Given the description of an element on the screen output the (x, y) to click on. 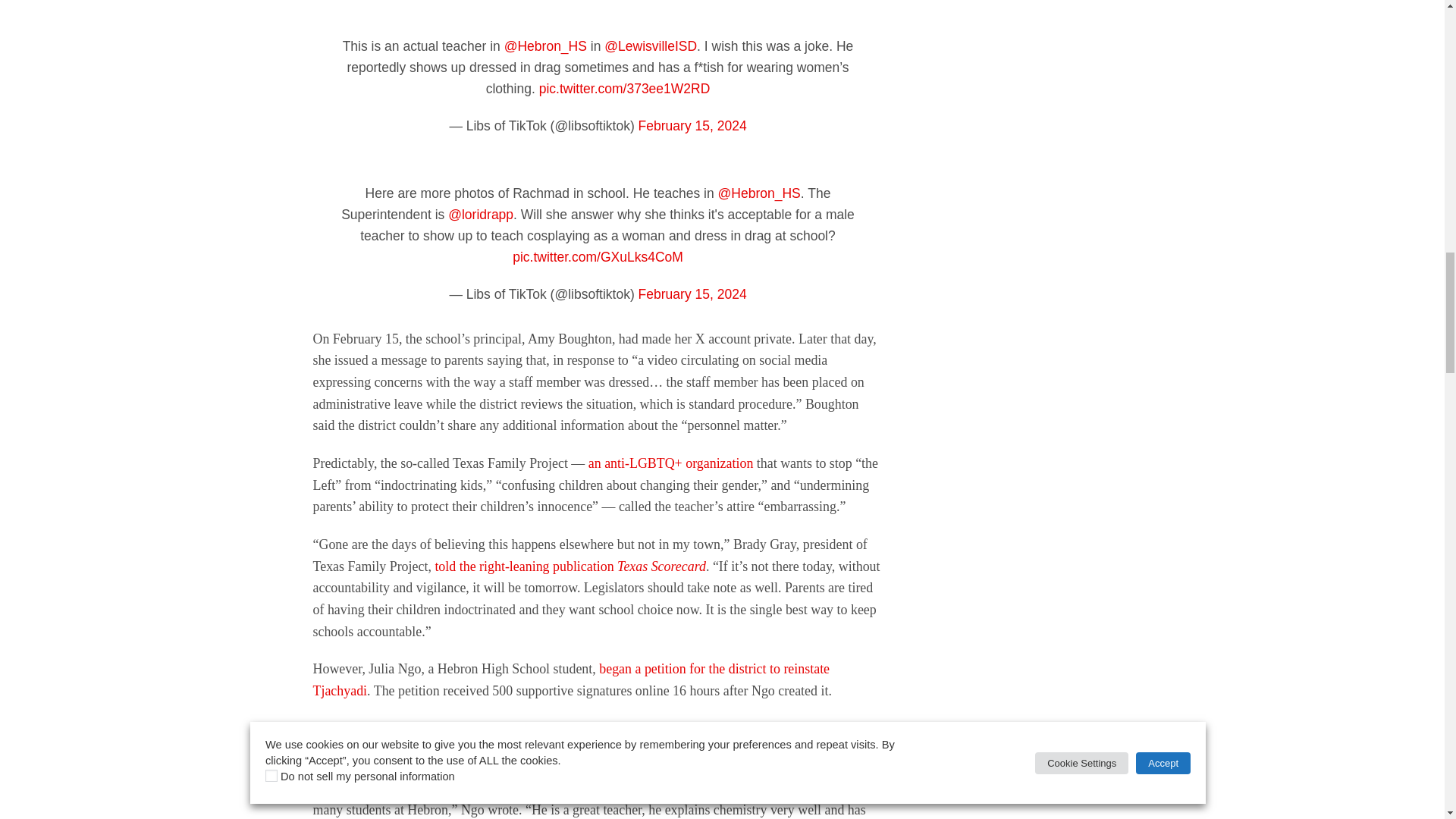
told the right-leaning publication Texas Scorecard (569, 566)
February 15, 2024 (692, 125)
began a petition for the district to reinstate Tjachyadi (571, 679)
February 15, 2024 (692, 294)
